Given the description of an element on the screen output the (x, y) to click on. 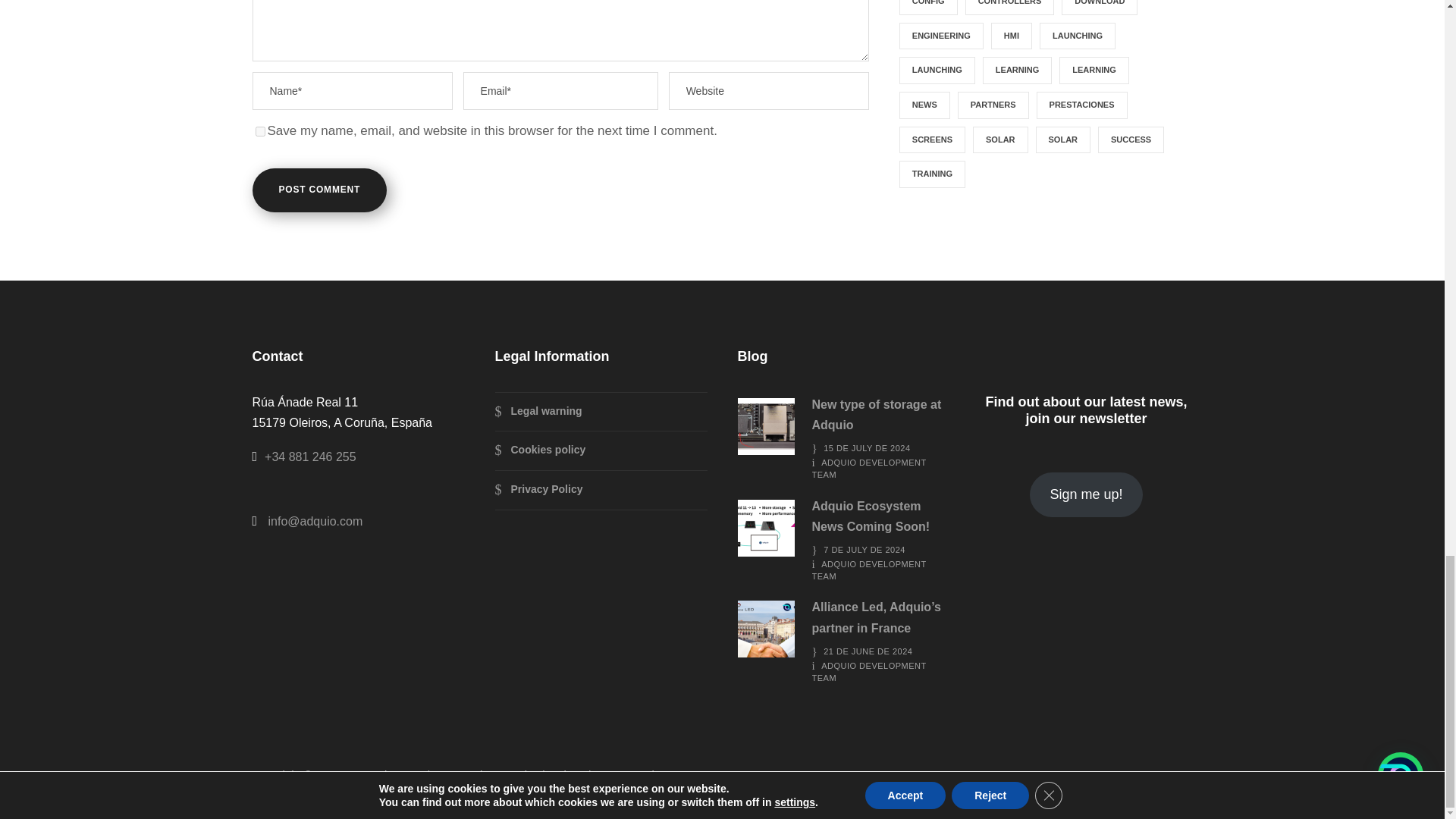
yes (259, 131)
Post Comment (319, 190)
